Given the description of an element on the screen output the (x, y) to click on. 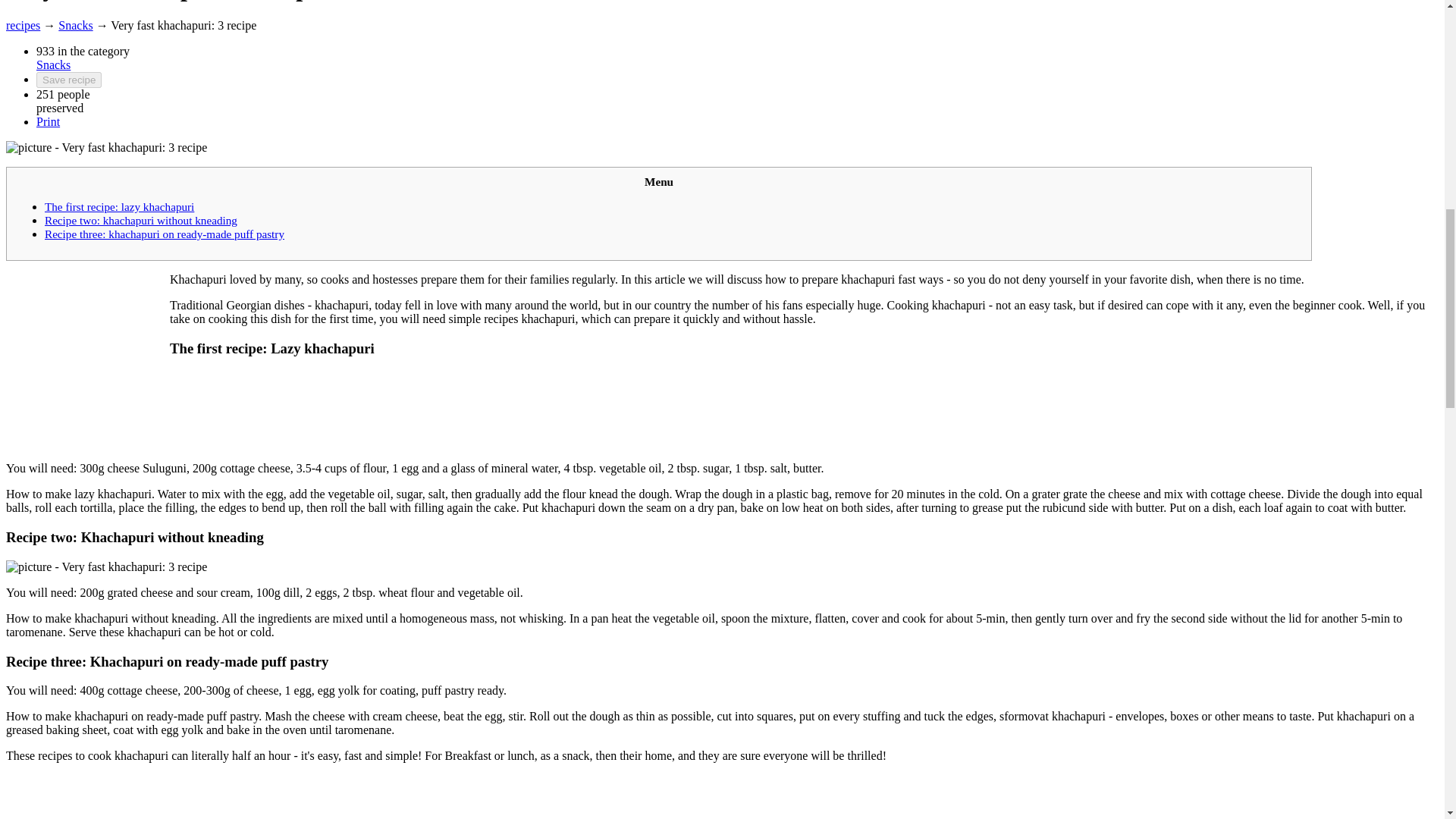
picture - Very fast khachapuri: 3 recipe (105, 147)
picture - Very fast khachapuri: 3 recipe (105, 567)
